Given the description of an element on the screen output the (x, y) to click on. 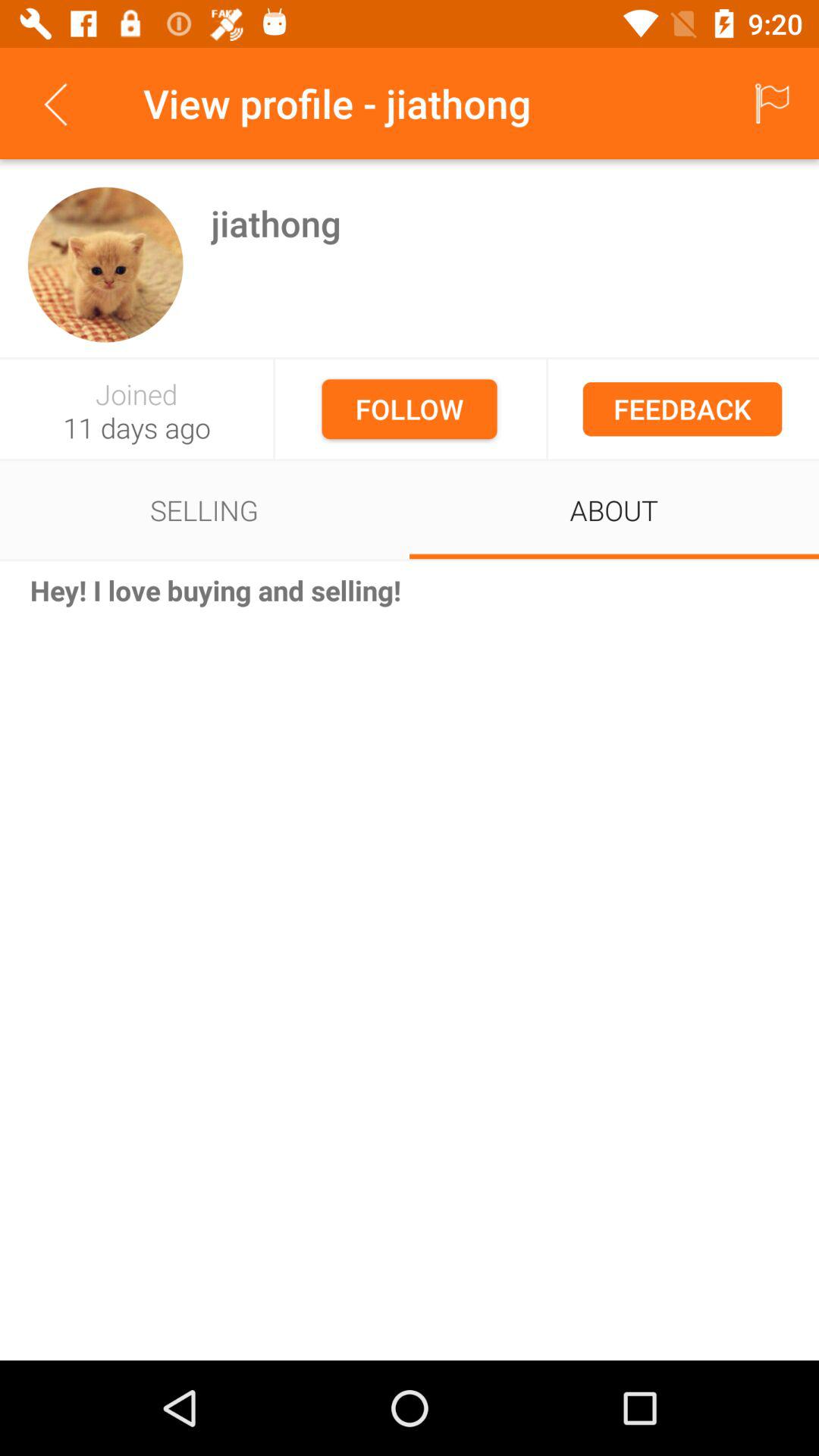
tap the item next to view profile - jiathong (55, 103)
